Given the description of an element on the screen output the (x, y) to click on. 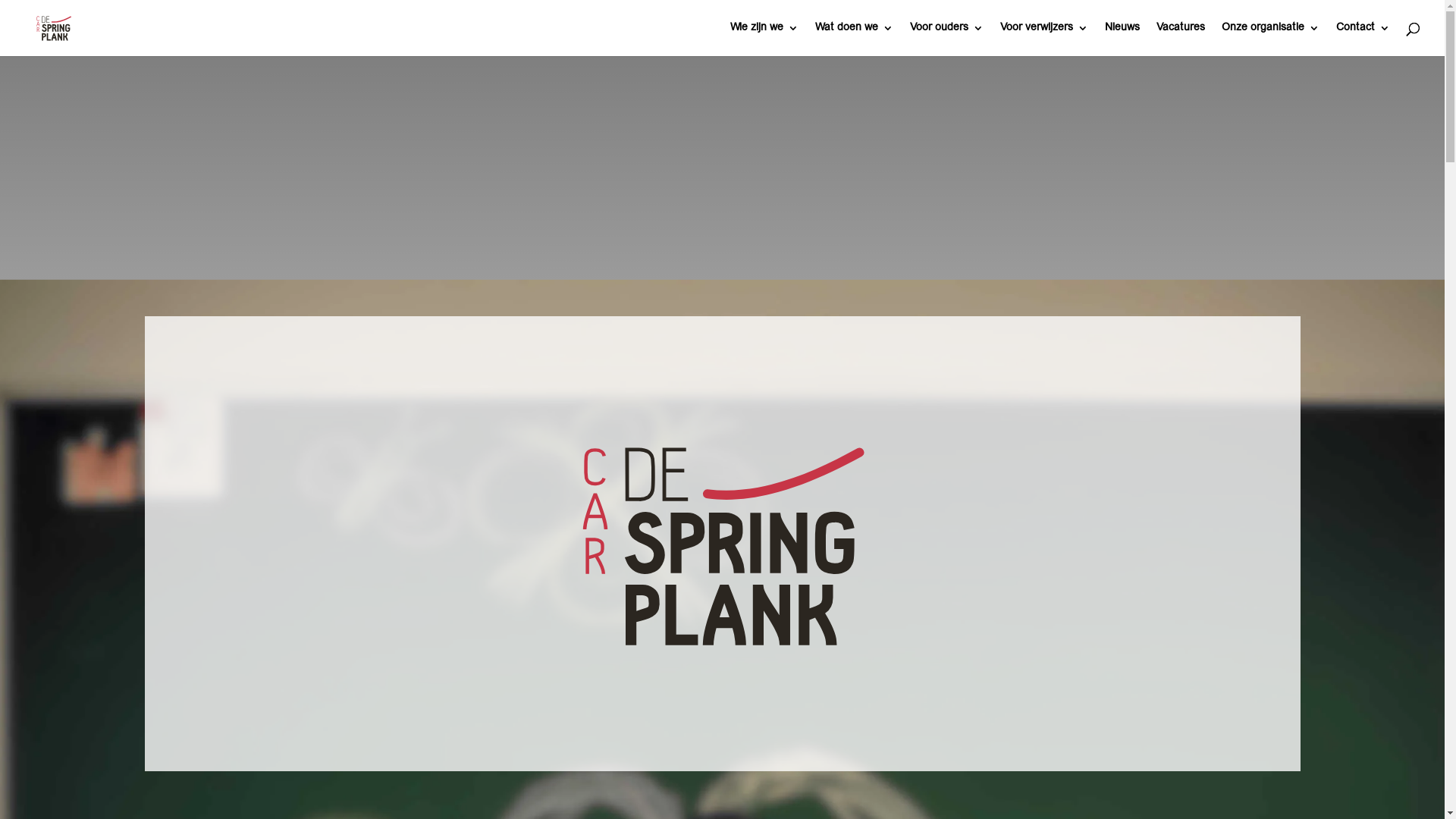
Wie zijn we Element type: text (764, 39)
De Springplank_logo_WEB Element type: hover (721, 543)
Voor verwijzers Element type: text (1044, 39)
Vacatures Element type: text (1180, 39)
Wat doen we Element type: text (854, 39)
Onze organisatie Element type: text (1270, 39)
Nieuws Element type: text (1121, 39)
Voor ouders Element type: text (946, 39)
Contact Element type: text (1363, 39)
